Given the description of an element on the screen output the (x, y) to click on. 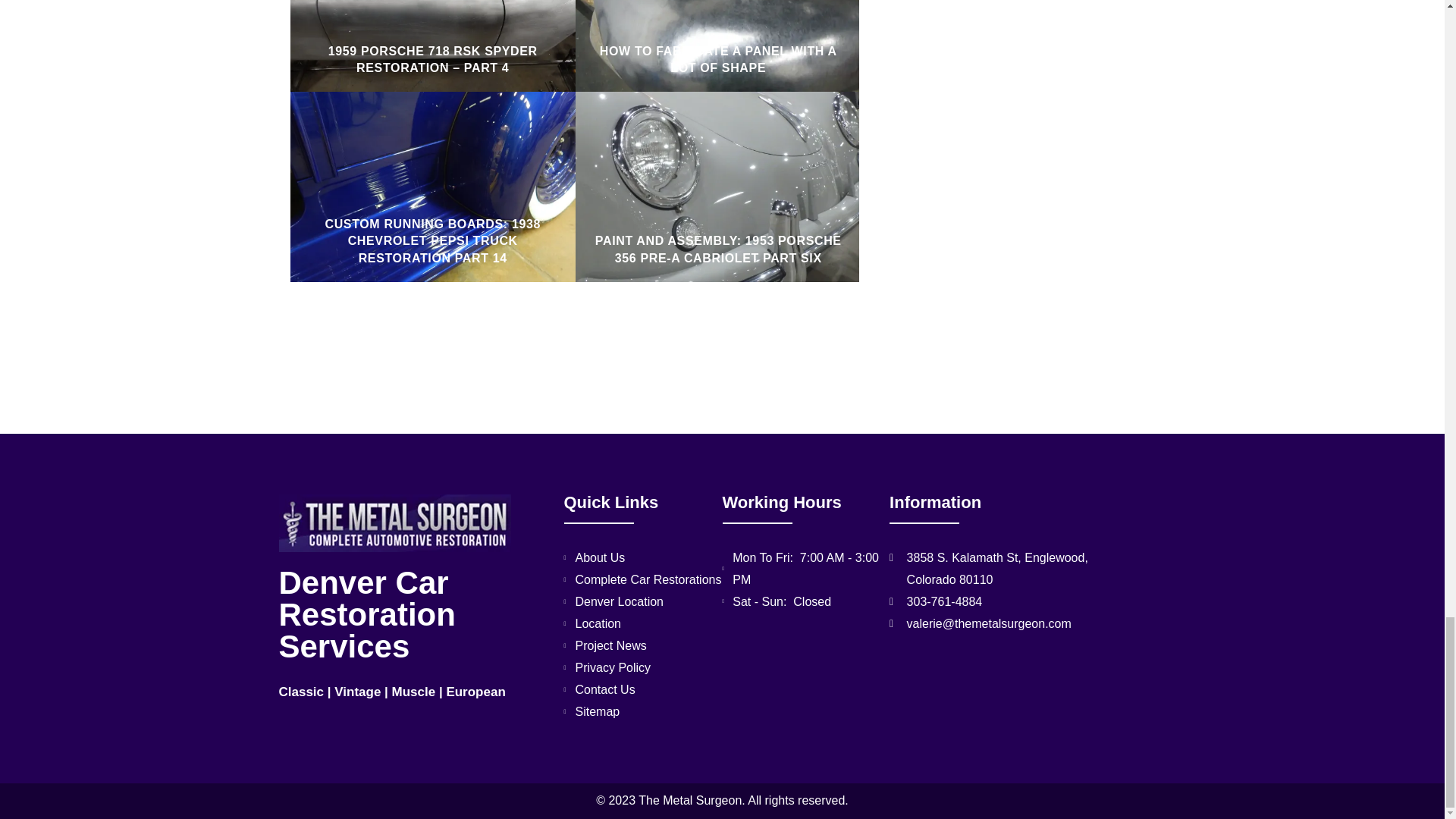
HOW TO FABRICATE A PANEL WITH A LOT OF SHAPE (718, 59)
